Given the description of an element on the screen output the (x, y) to click on. 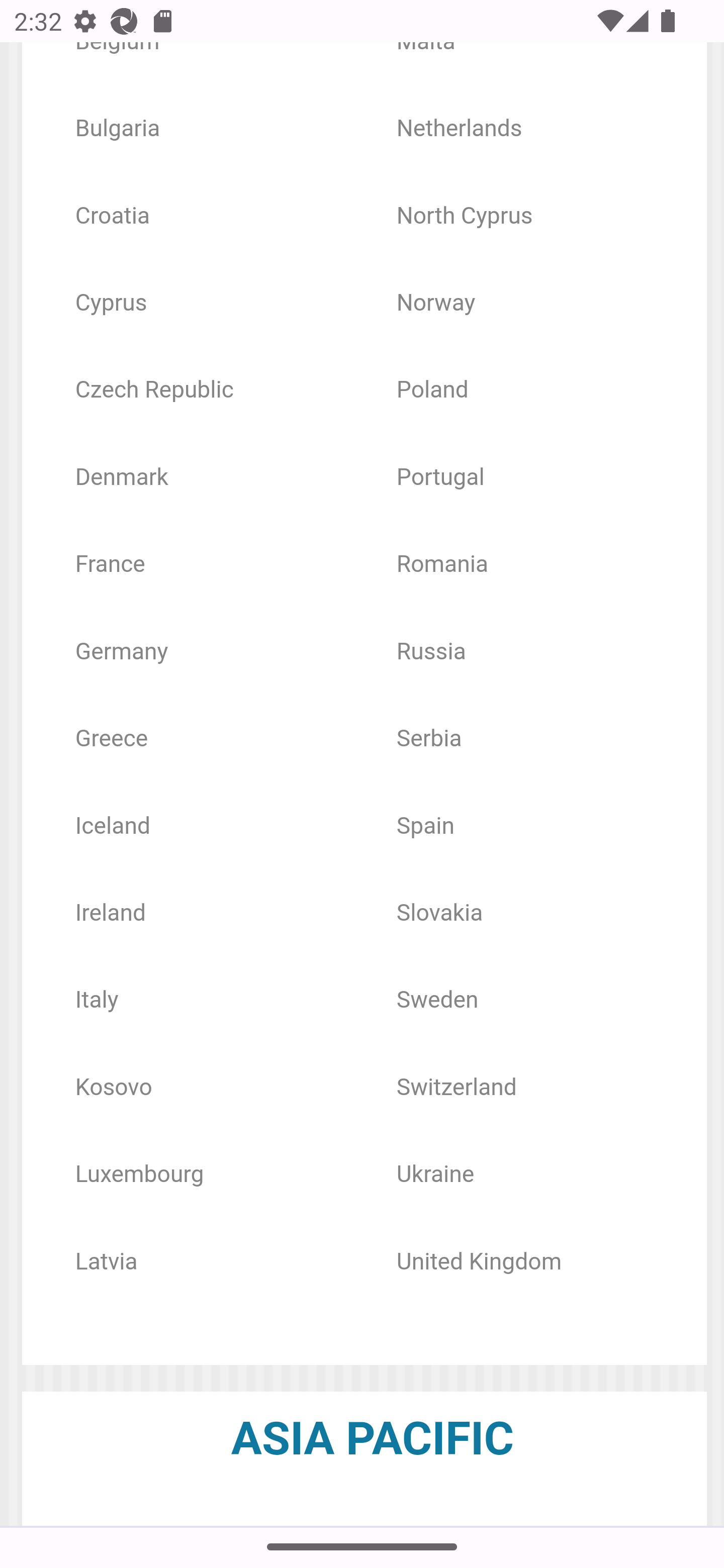
Bulgaria (117, 129)
Netherlands (459, 129)
Croatia (112, 216)
North Cyprus (464, 216)
Cyprus (110, 303)
Norway (436, 303)
Czech Republic (153, 391)
Poland (432, 391)
Denmark (120, 478)
Portugal (440, 478)
France (109, 565)
Romania (442, 565)
Germany (120, 652)
Russia (431, 652)
Greece (111, 739)
Serbia (429, 739)
Iceland (112, 826)
Spain (425, 826)
Ireland (109, 913)
Slovakia (439, 913)
Italy (96, 1000)
Sweden (437, 1000)
Kosovo (112, 1087)
Switzerland (456, 1087)
Luxembourg (139, 1175)
Ukraine (435, 1175)
Latvia (106, 1262)
United Kingdom (479, 1262)
